Given the description of an element on the screen output the (x, y) to click on. 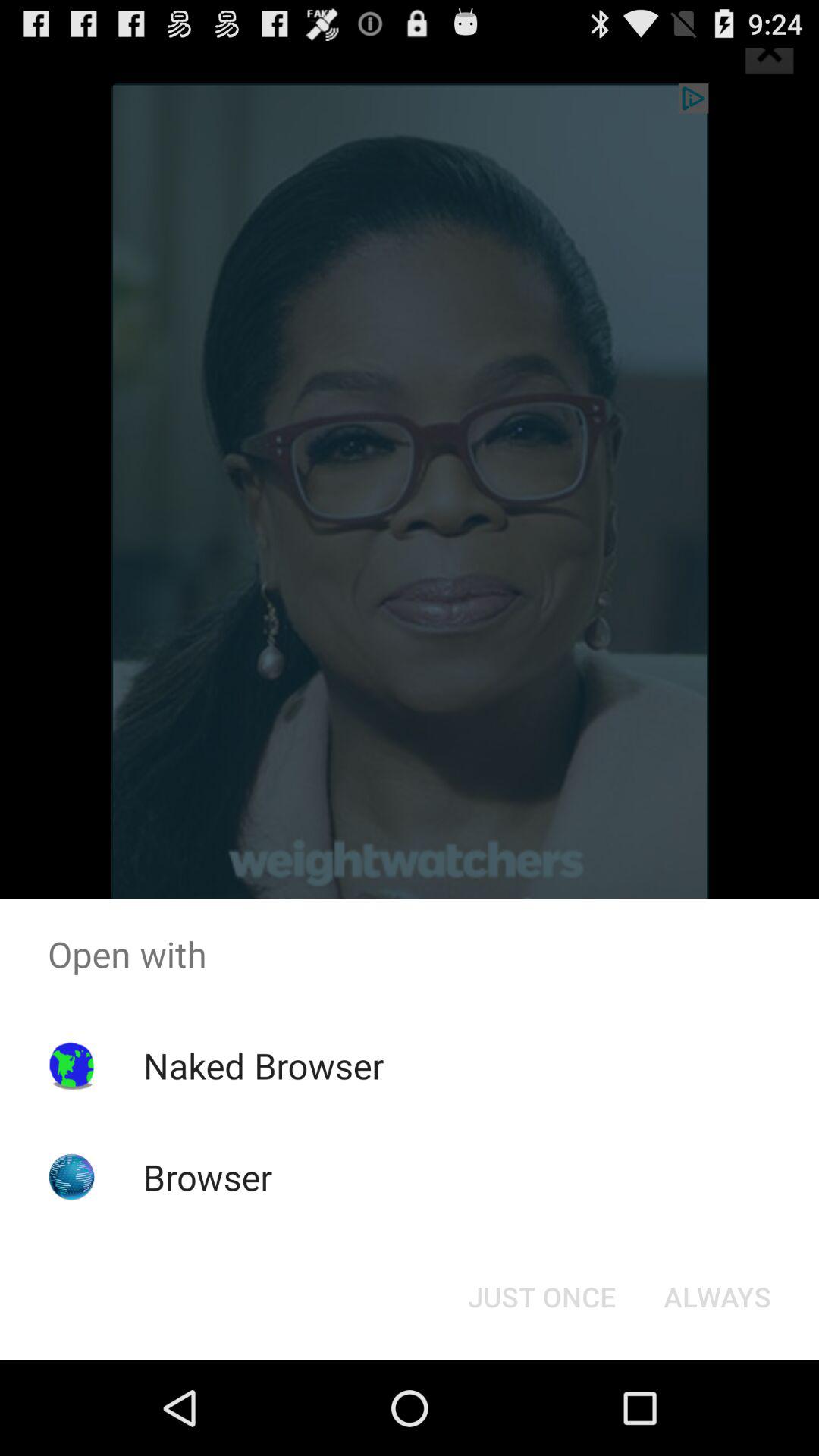
launch item next to the just once button (717, 1296)
